Given the description of an element on the screen output the (x, y) to click on. 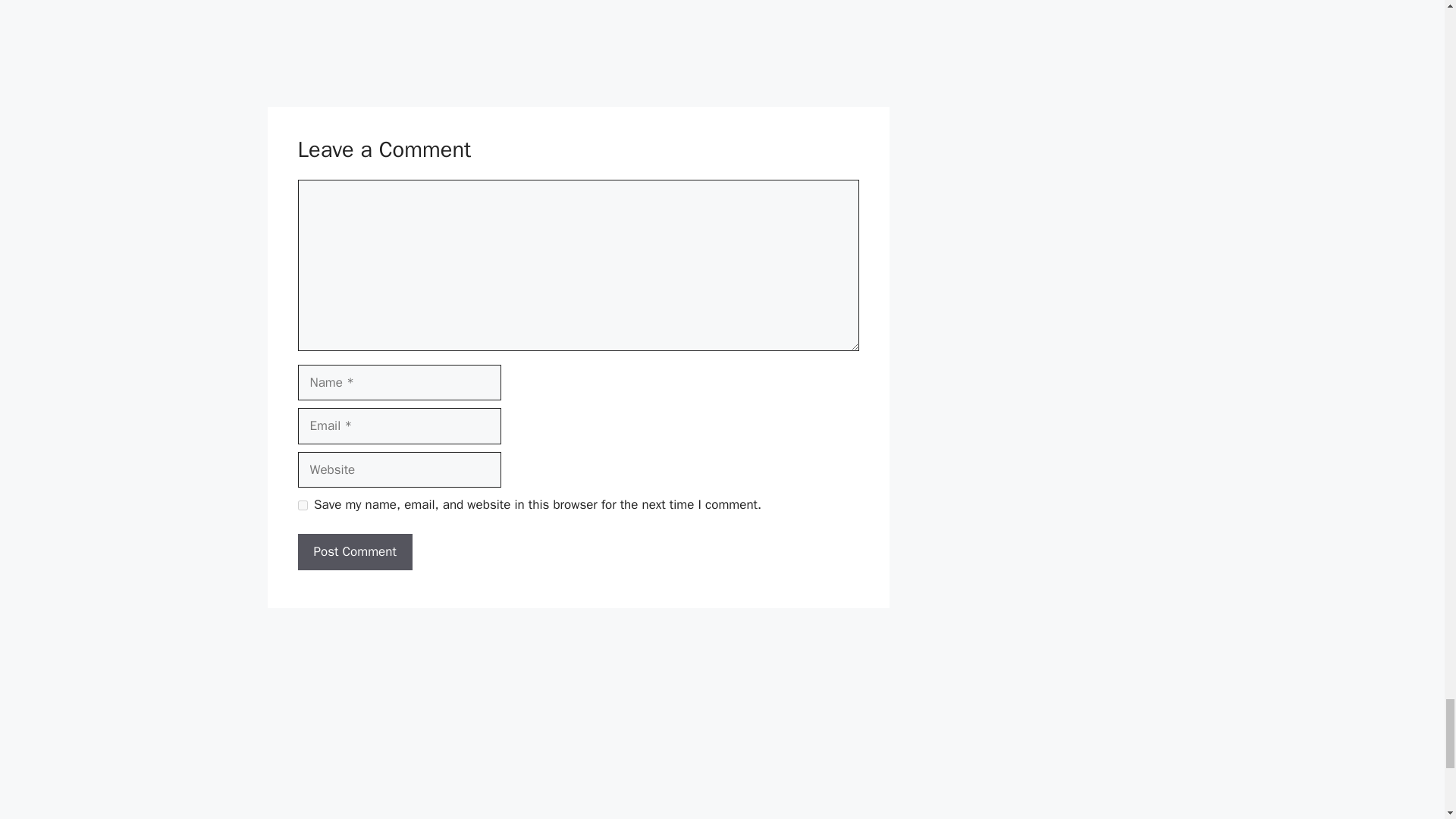
Post Comment (354, 551)
Post Comment (354, 551)
yes (302, 505)
